Given the description of an element on the screen output the (x, y) to click on. 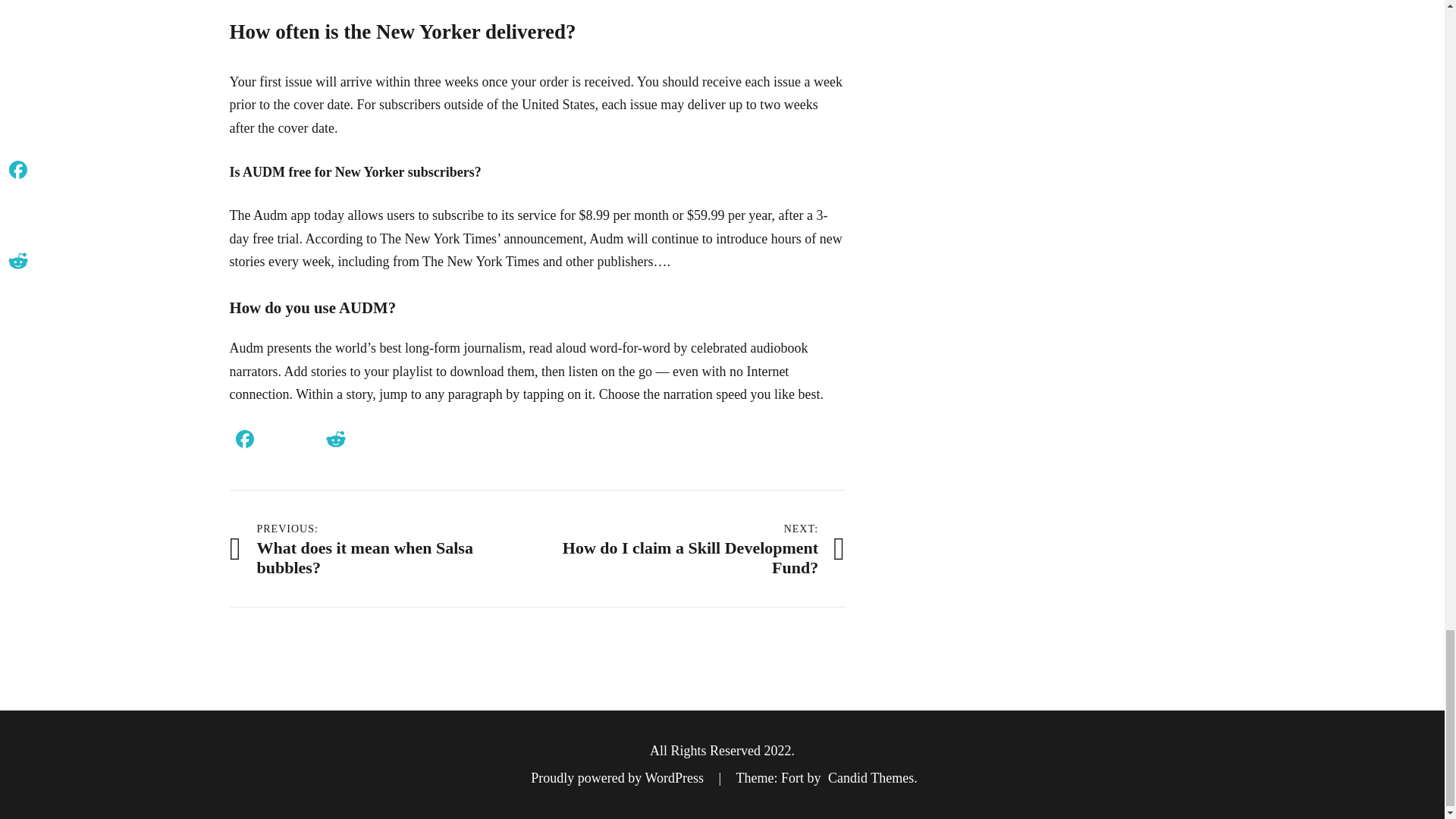
Twitter (274, 440)
Email (304, 440)
Telegram (425, 440)
Facebook (243, 440)
Reddit (382, 547)
WhatsApp (335, 440)
Share (365, 440)
Reddit (456, 440)
Twitter (691, 547)
Email (335, 440)
Telegram (274, 440)
WhatsApp (304, 440)
Messenger (425, 440)
